Given the description of an element on the screen output the (x, y) to click on. 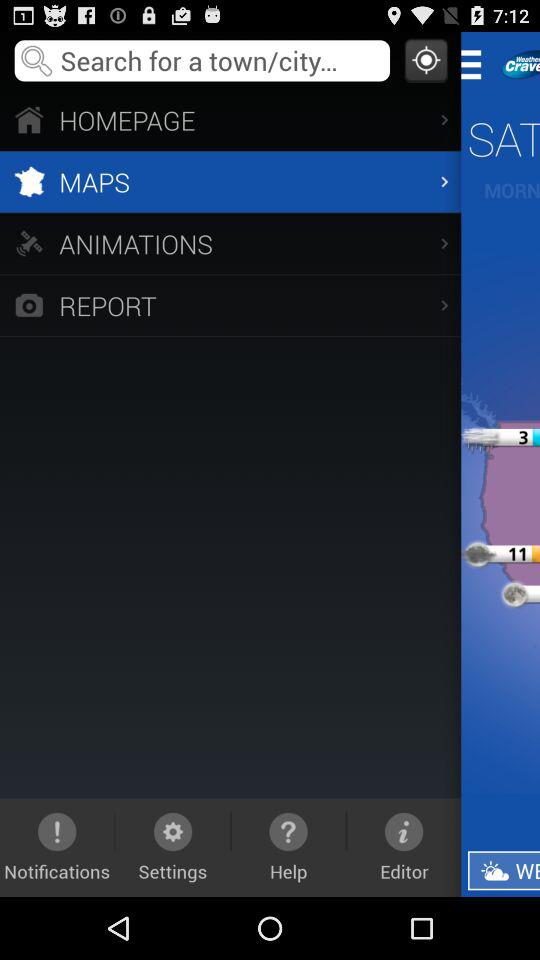
select the item to the right of the editor item (504, 870)
